Given the description of an element on the screen output the (x, y) to click on. 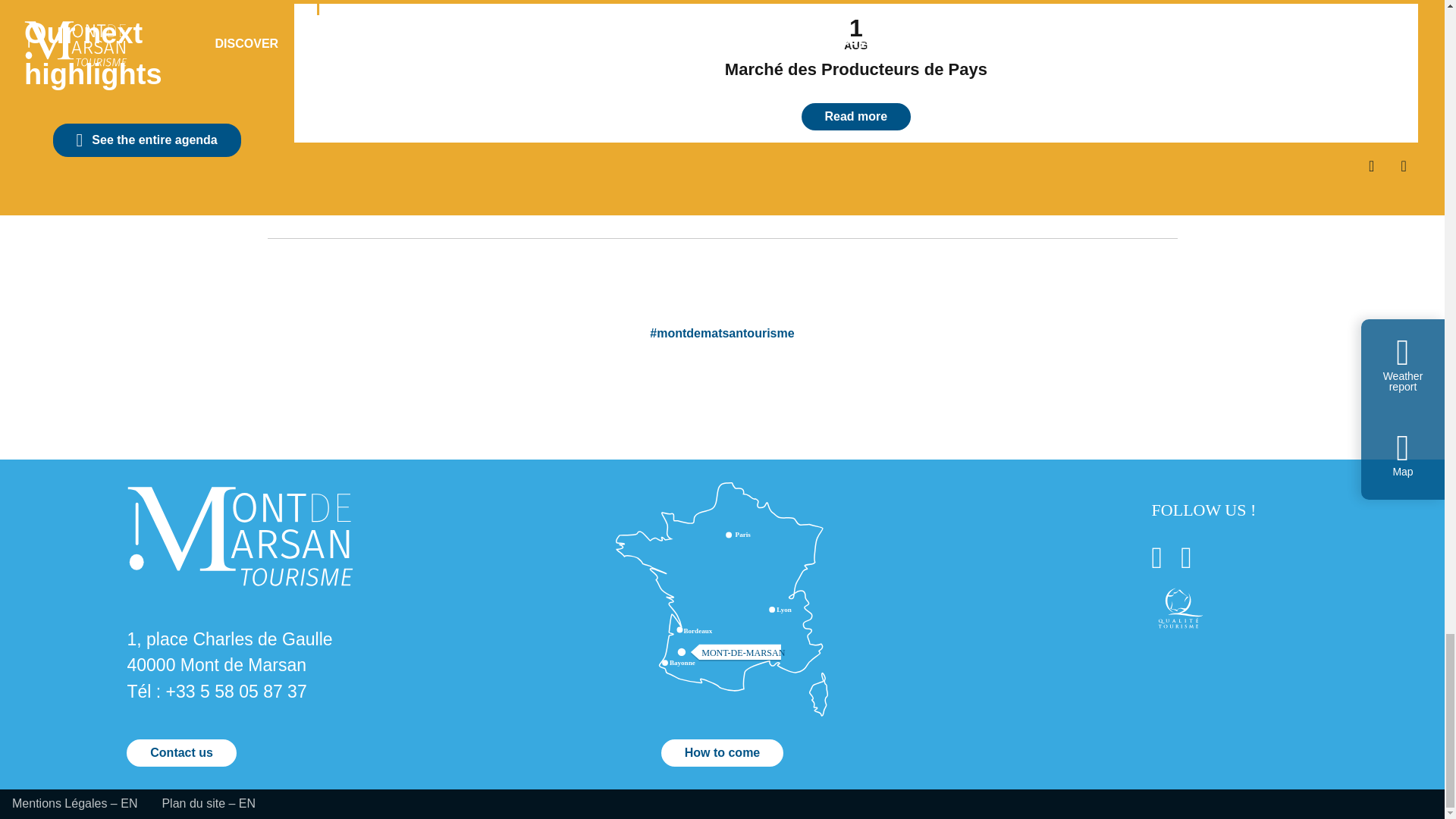
Contact us (180, 752)
How to come (722, 752)
How to come (722, 752)
See the entire agenda (146, 140)
Contact us (180, 752)
